Given the description of an element on the screen output the (x, y) to click on. 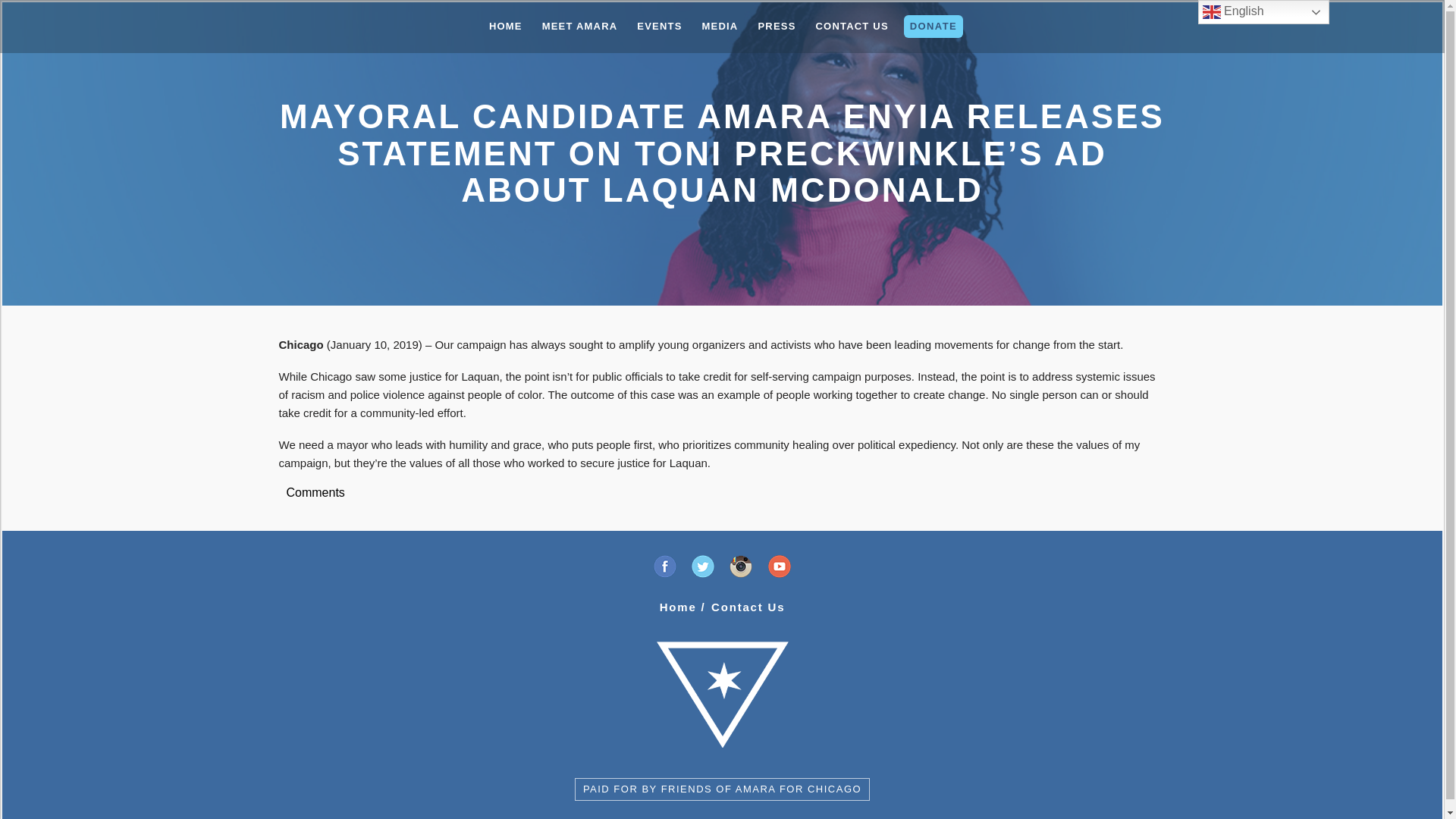
Home (678, 606)
Contact Us (747, 606)
MEDIA (719, 25)
CONTACT US (852, 25)
MEET AMARA (580, 25)
DONATE (933, 26)
HOME (505, 25)
English (1263, 12)
EVENTS (658, 25)
PRESS (776, 25)
